Given the description of an element on the screen output the (x, y) to click on. 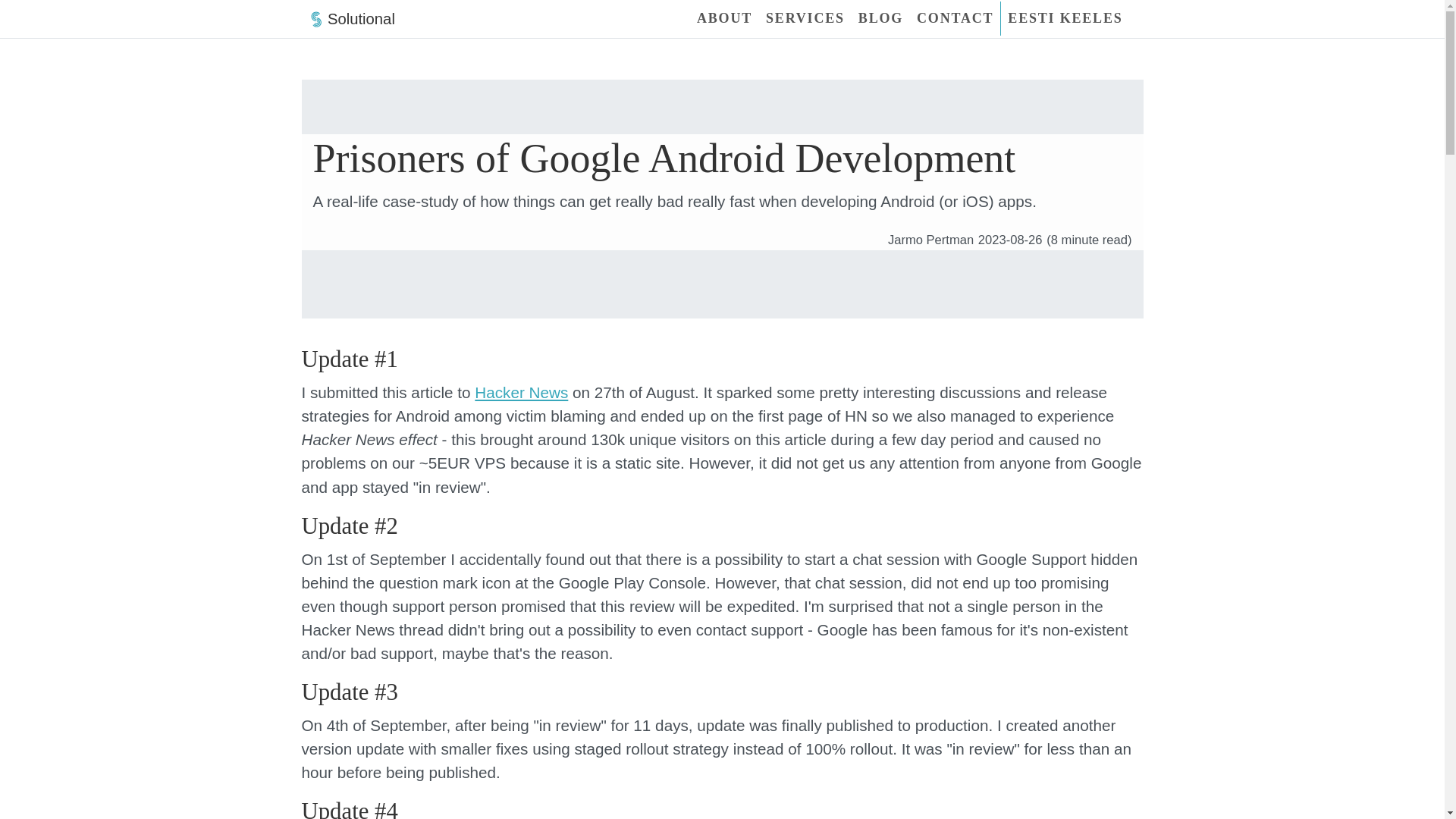
ABOUT (724, 18)
BLOG (880, 18)
Solutional (347, 18)
CONTACT (955, 18)
EESTI KEELES (1065, 18)
SERVICES (804, 18)
Hacker News (520, 392)
